Given the description of an element on the screen output the (x, y) to click on. 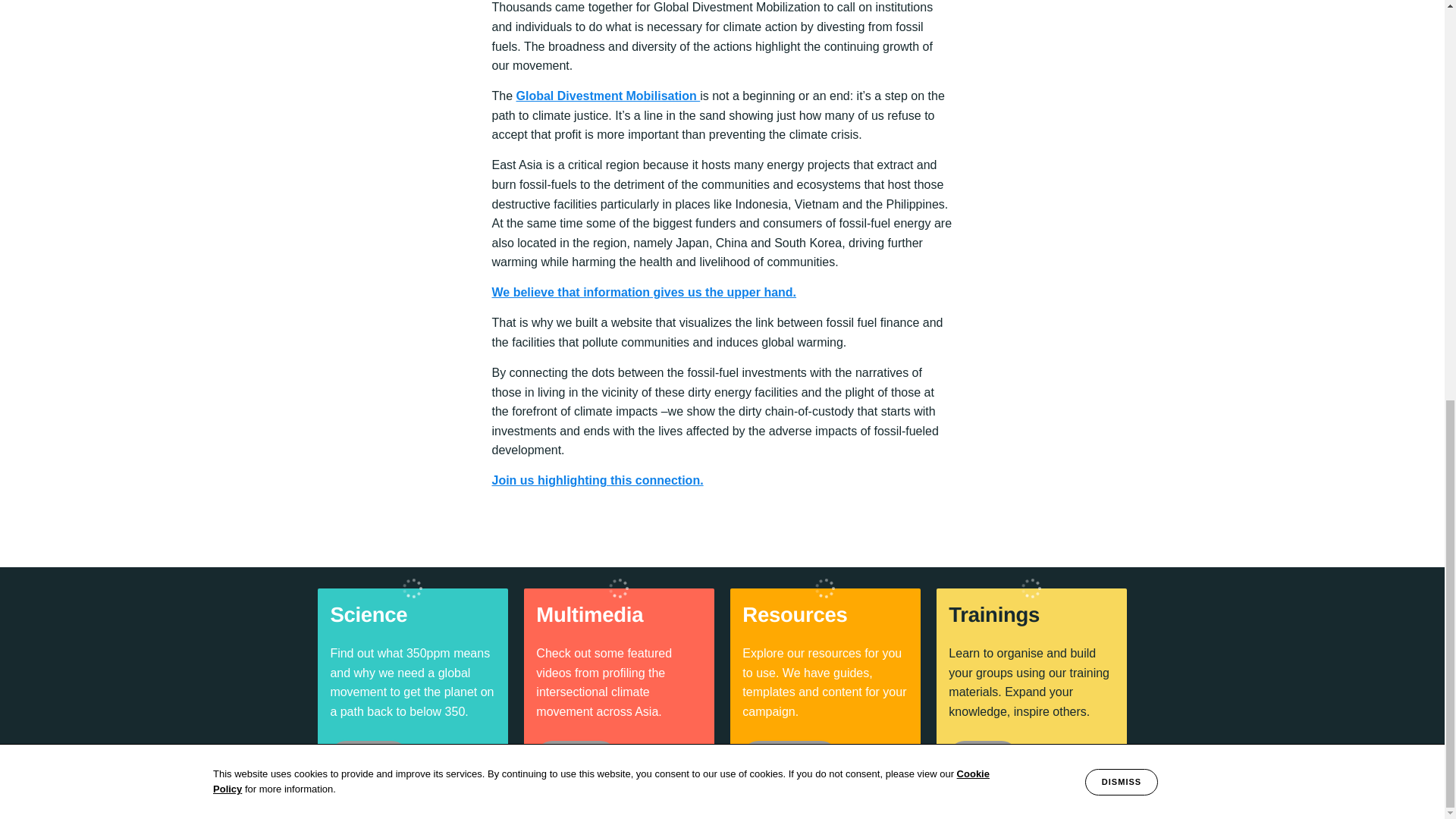
Global Divestment Mobilisation (608, 95)
DISMISS (1120, 7)
We believe that information gives us the upper hand. (644, 291)
WATCH (575, 757)
LEARN (368, 757)
Join us highlighting this connection. (597, 480)
Cookie Policy (601, 6)
EXPLORE (789, 757)
VISIT (983, 757)
